Given the description of an element on the screen output the (x, y) to click on. 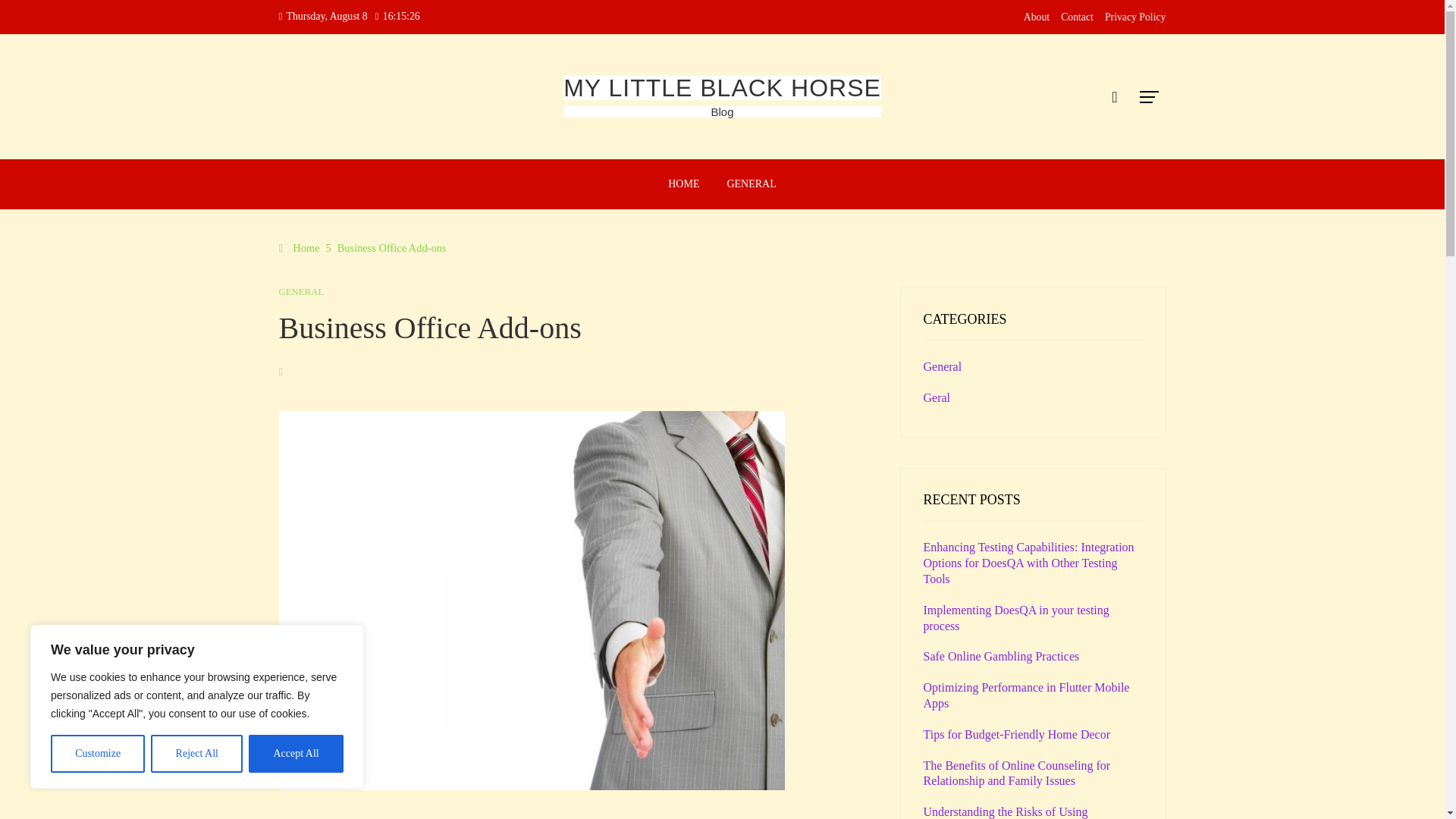
Home (299, 247)
Reject All (197, 753)
Blog (721, 111)
HOME (683, 183)
Contact (1077, 17)
GENERAL (750, 183)
GENERAL (301, 292)
Customize (97, 753)
Privacy Policy (1135, 17)
MY LITTLE BLACK HORSE (721, 87)
